Given the description of an element on the screen output the (x, y) to click on. 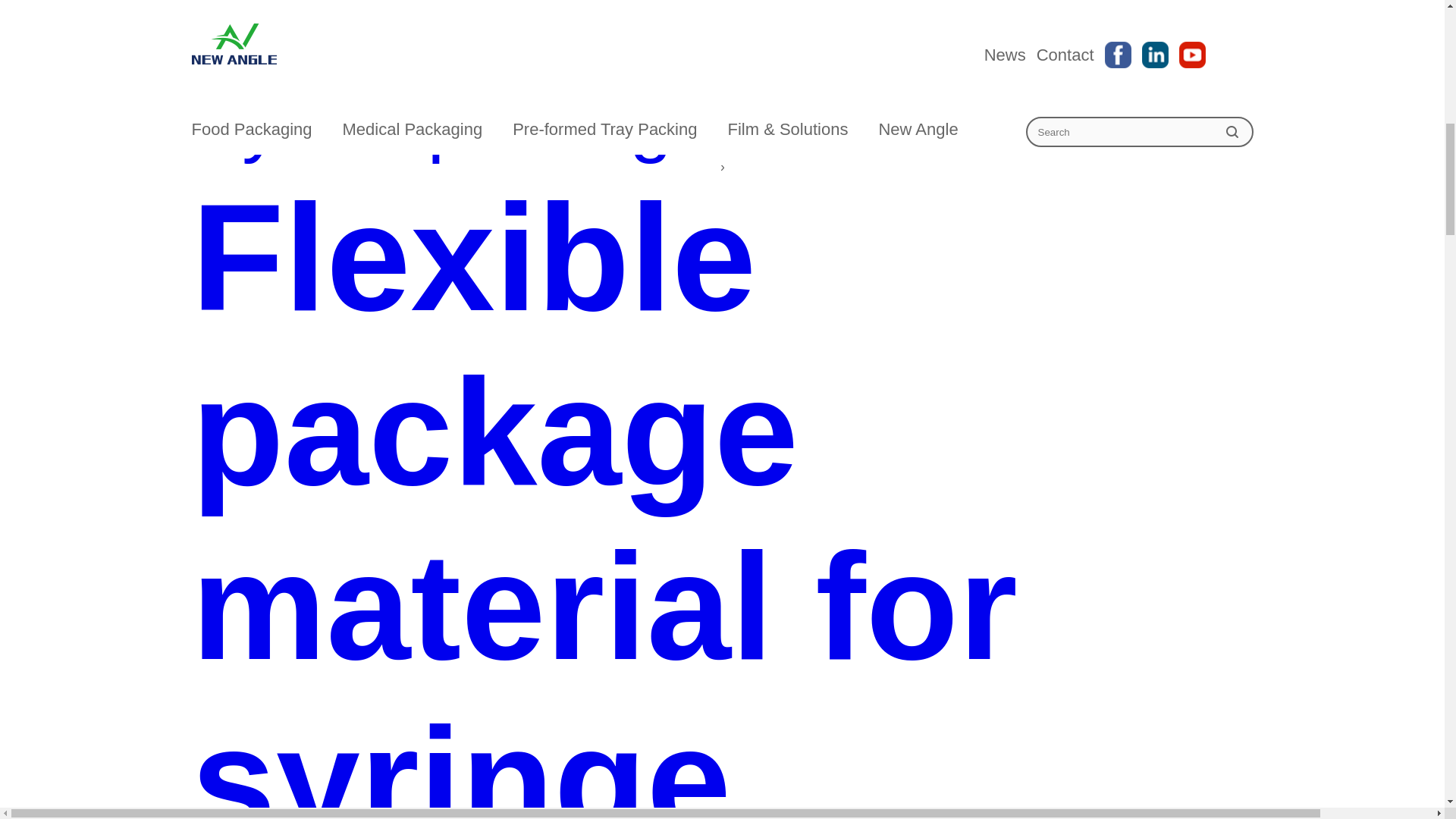
Syrine package material (721, 121)
Product (721, 36)
